Given the description of an element on the screen output the (x, y) to click on. 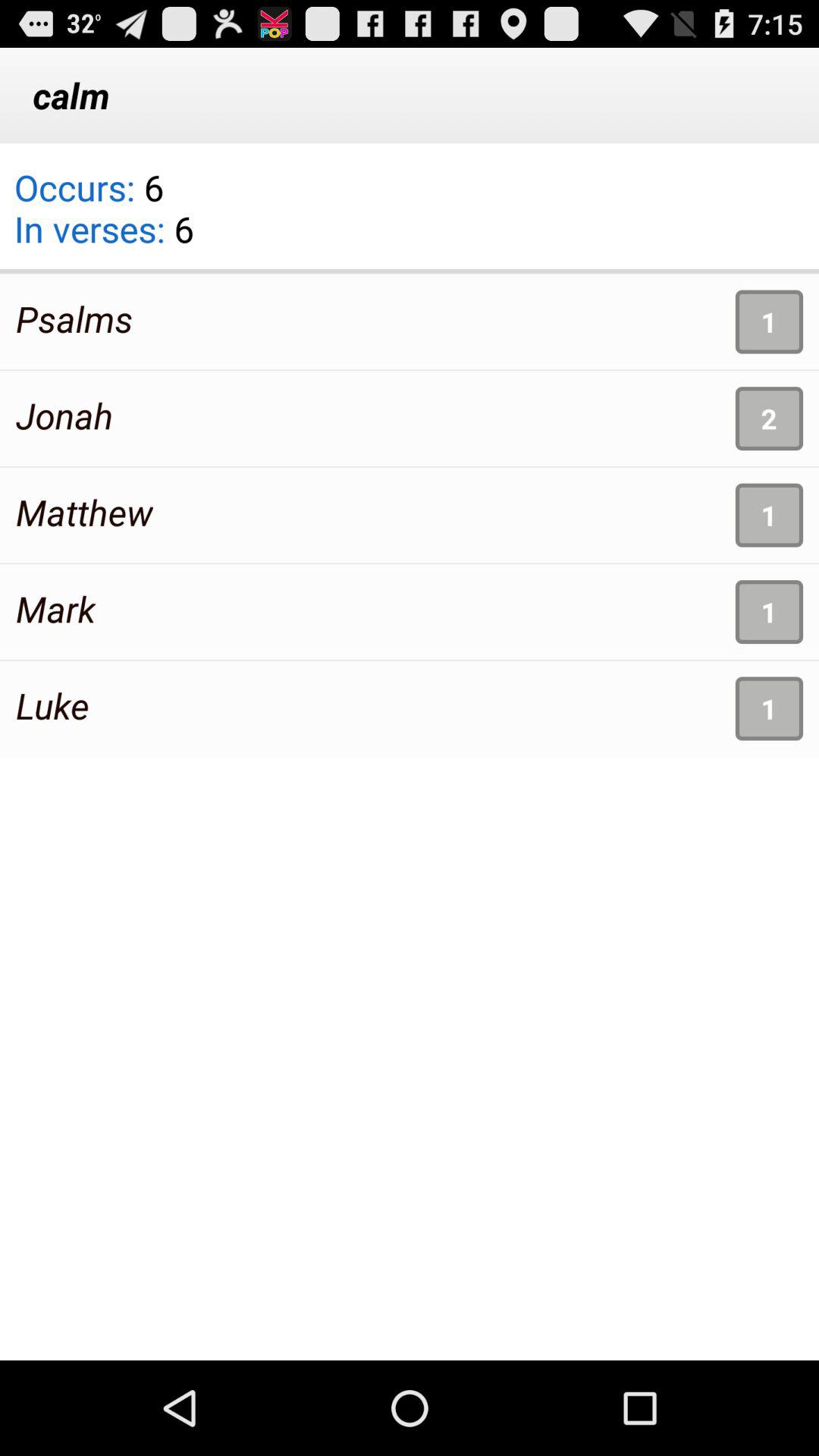
choose the icon to the left of the 1 (74, 318)
